Given the description of an element on the screen output the (x, y) to click on. 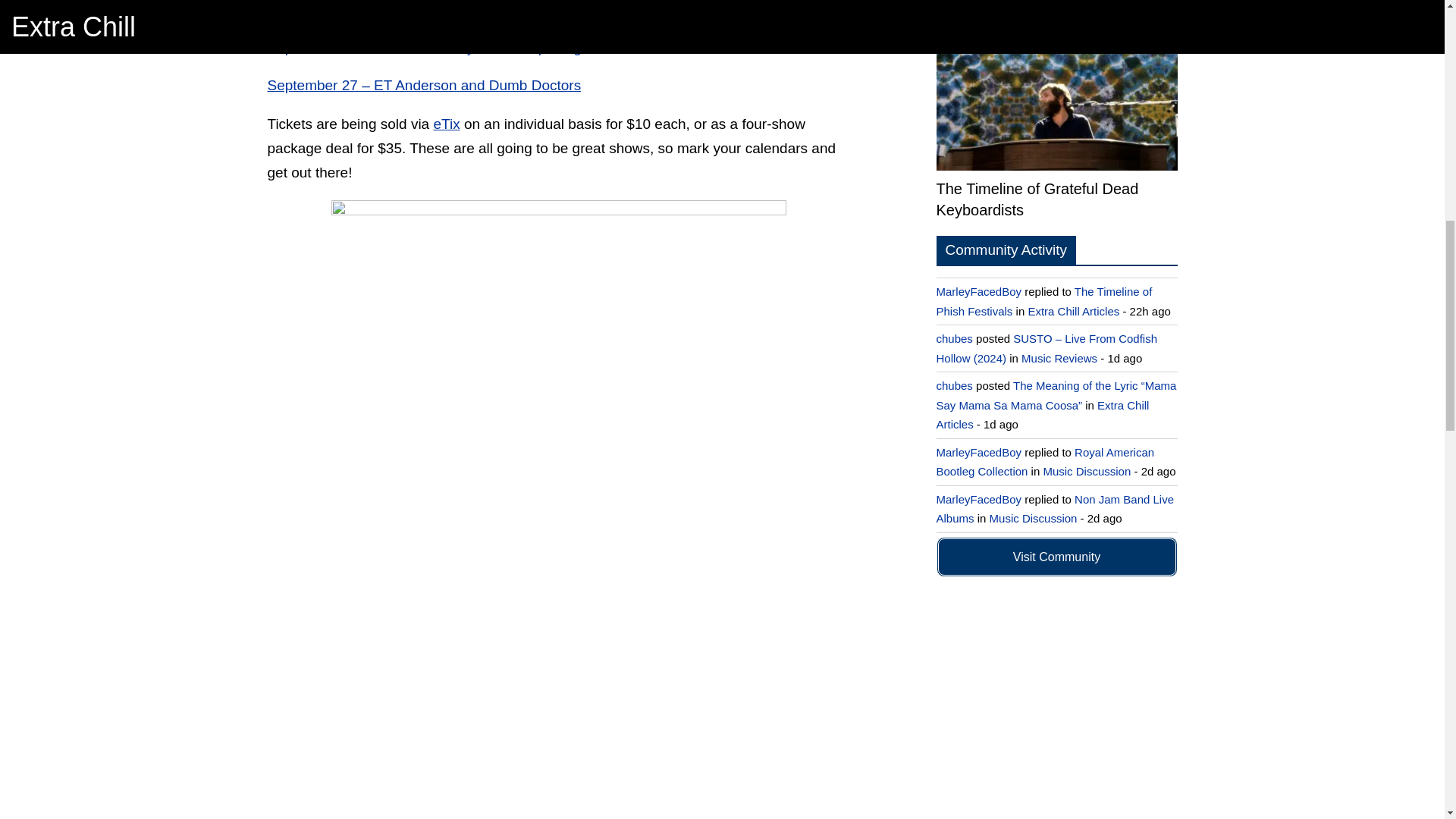
eTix (446, 123)
